Given the description of an element on the screen output the (x, y) to click on. 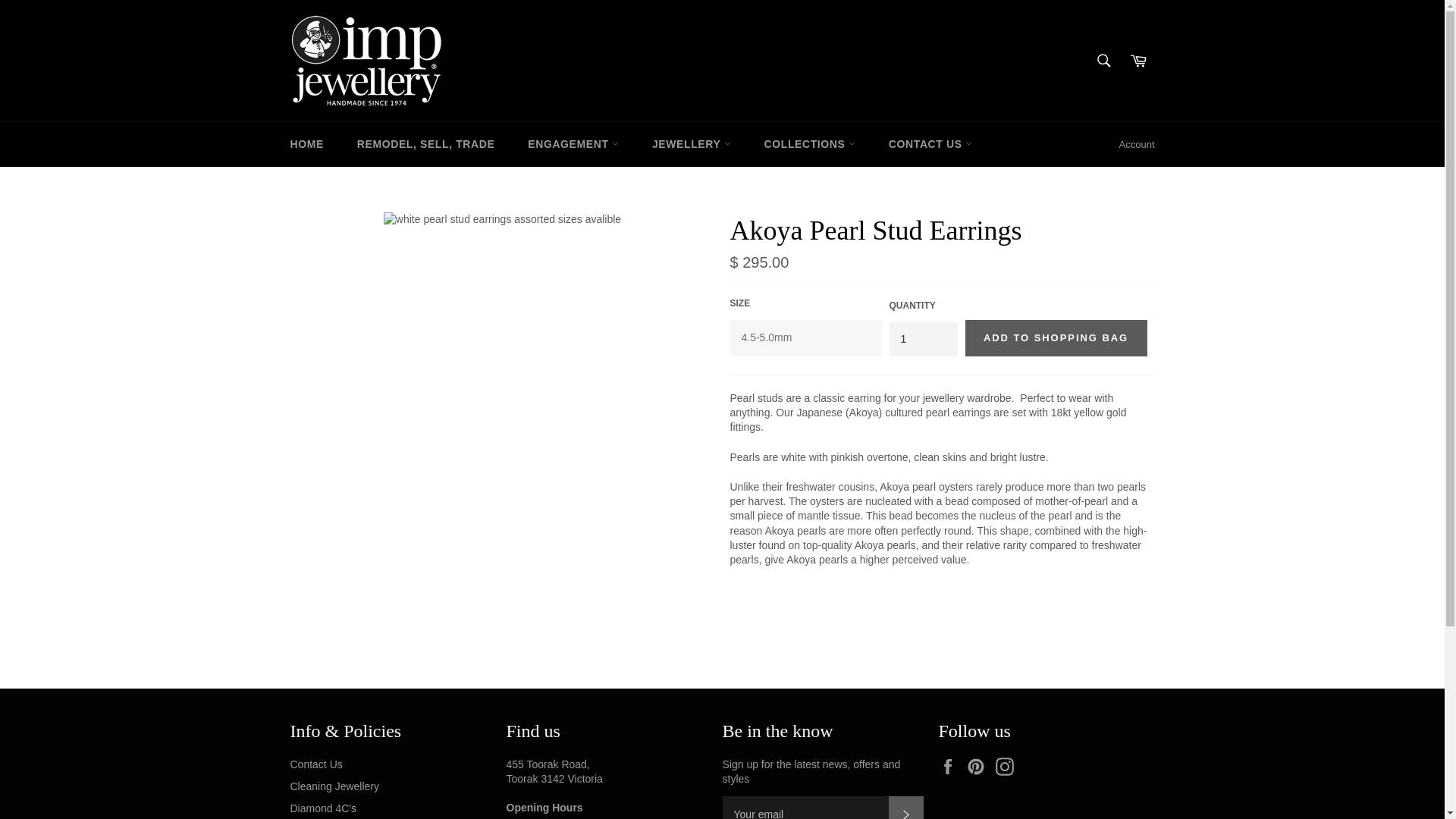
Search (1103, 60)
HOME (306, 144)
Imp Jewellery on Pinterest (979, 766)
REMODEL, SELL, TRADE (426, 144)
Cart (1138, 60)
1 (922, 339)
Imp Jewellery on Facebook (951, 766)
Imp Jewellery on Instagram (1008, 766)
